Given the description of an element on the screen output the (x, y) to click on. 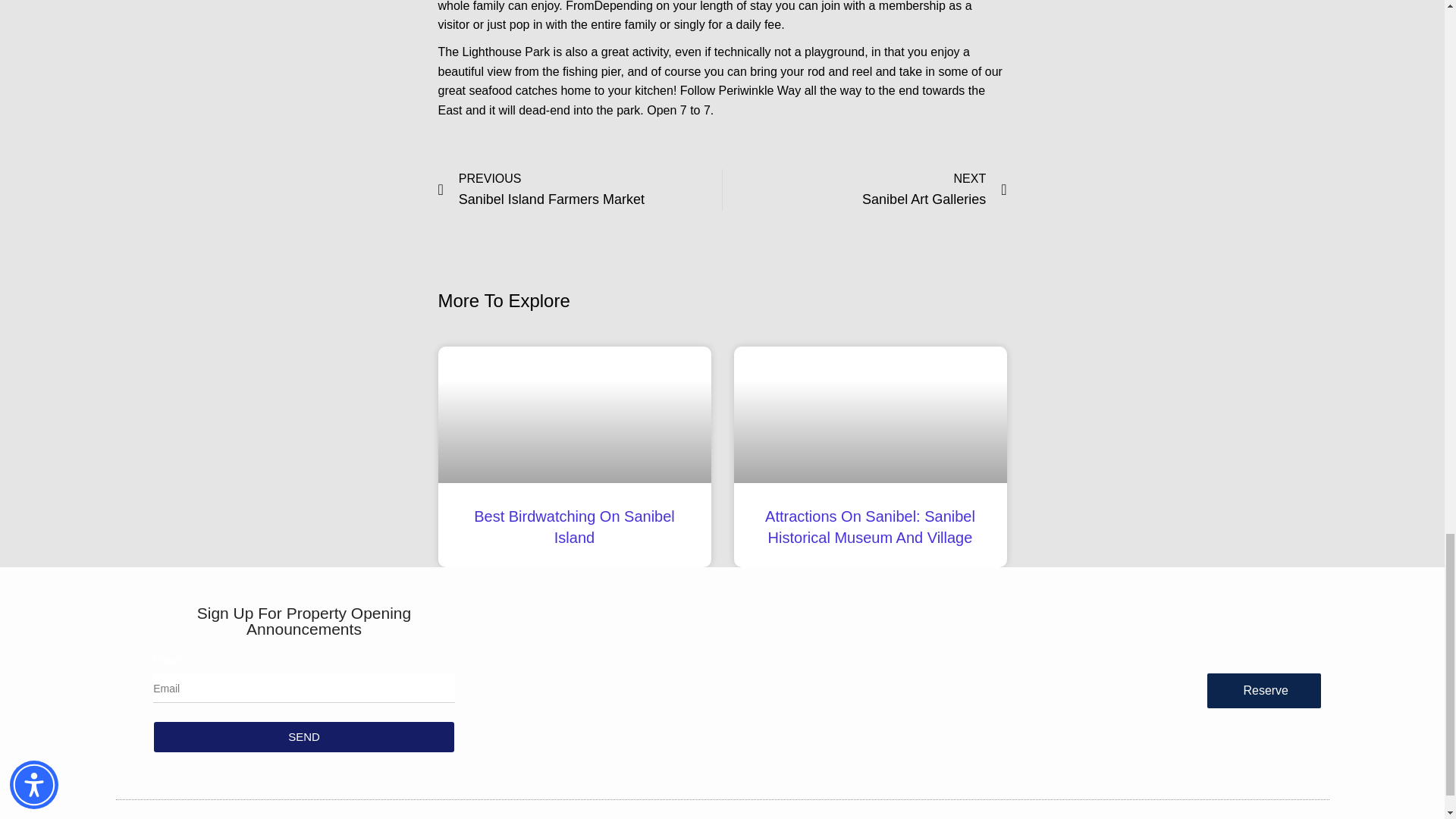
Best Birdwatching On Sanibel Island (574, 526)
SEND (864, 189)
Reserve (580, 189)
